Given the description of an element on the screen output the (x, y) to click on. 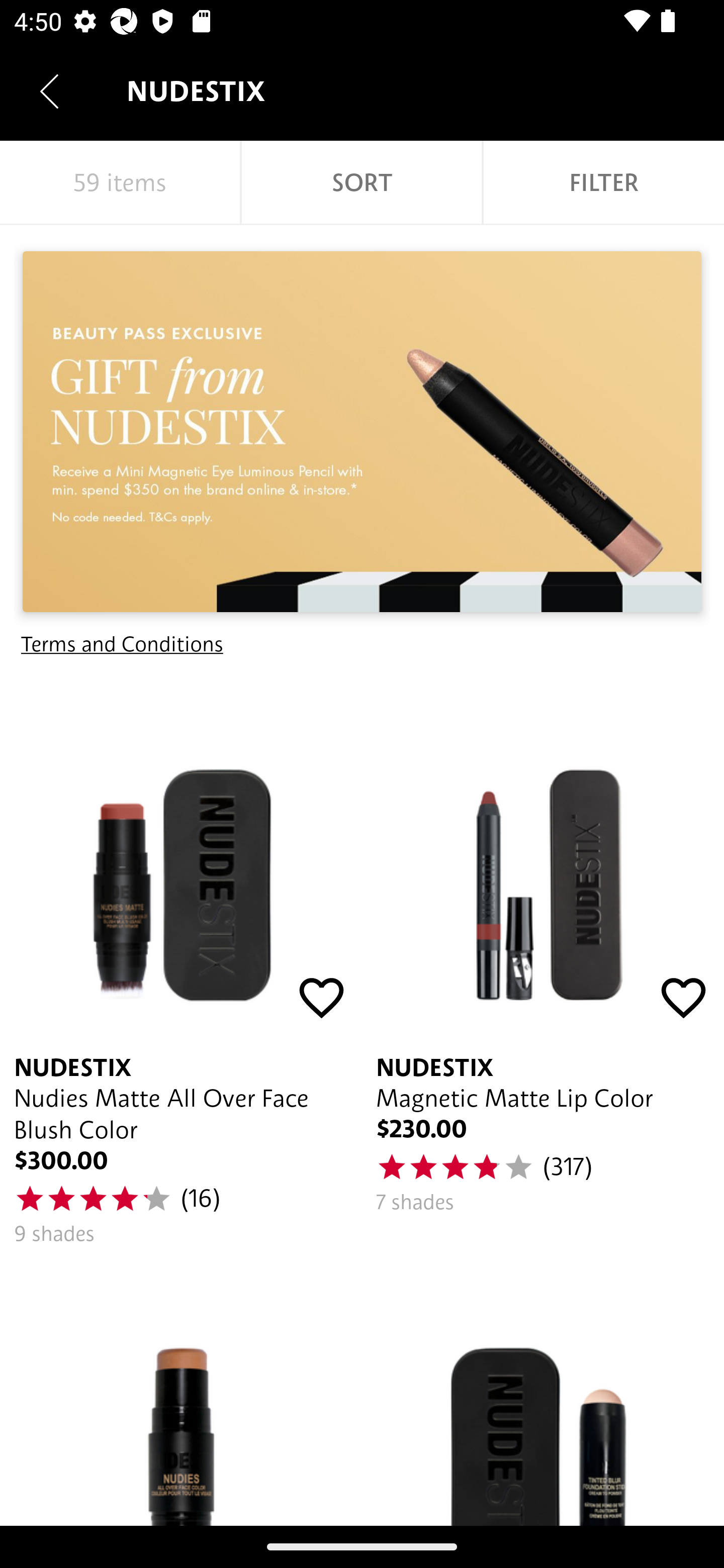
Navigate up (49, 91)
SORT (361, 183)
FILTER (603, 183)
Terms and Conditions (121, 644)
